Given the description of an element on the screen output the (x, y) to click on. 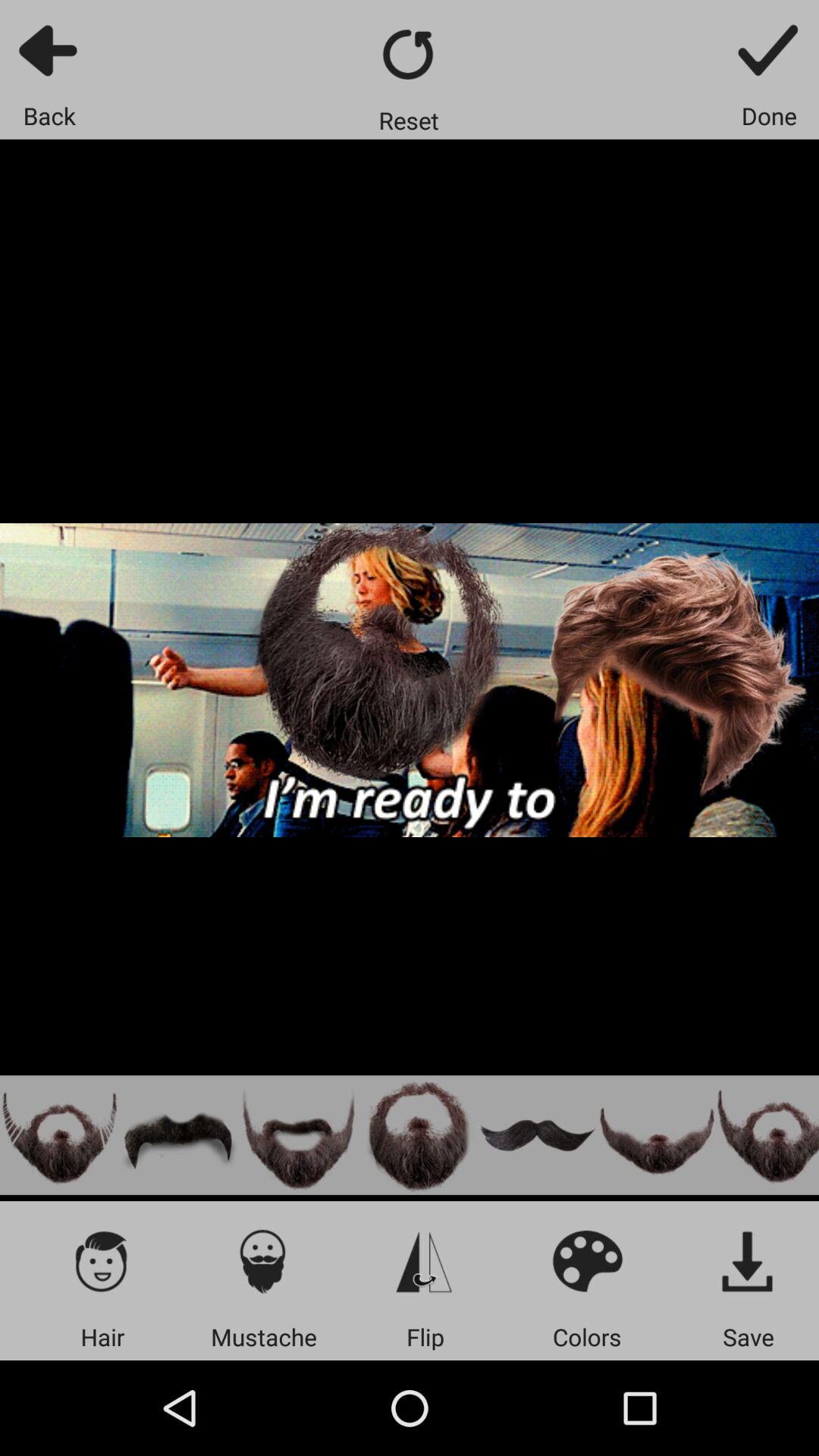
change facial hair overlay (298, 1134)
